Given the description of an element on the screen output the (x, y) to click on. 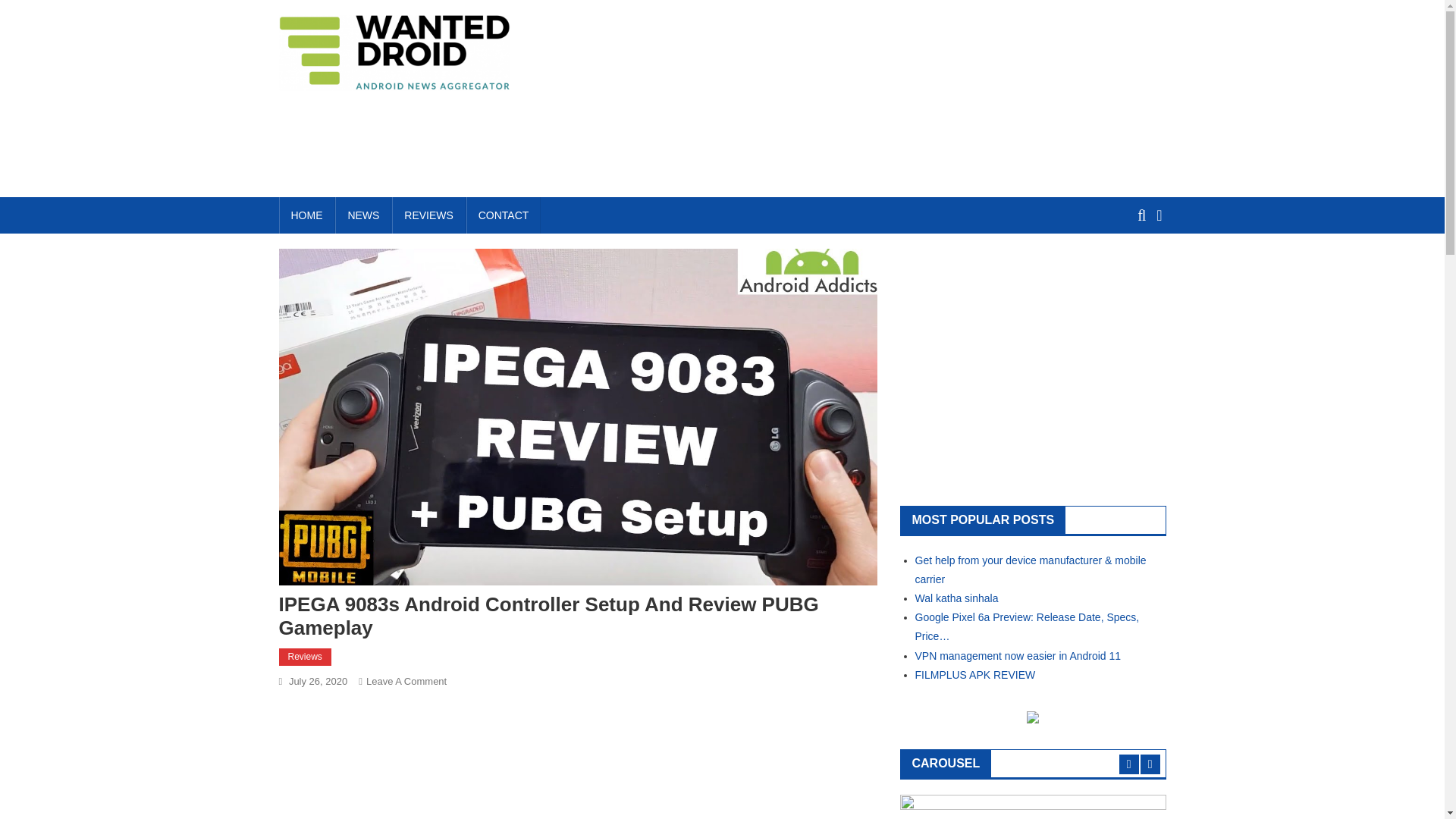
Search (1133, 271)
HOME (306, 215)
July 26, 2020 (317, 681)
NEWS (362, 215)
CONTACT (503, 215)
REVIEWS (428, 215)
Reviews (305, 657)
